Given the description of an element on the screen output the (x, y) to click on. 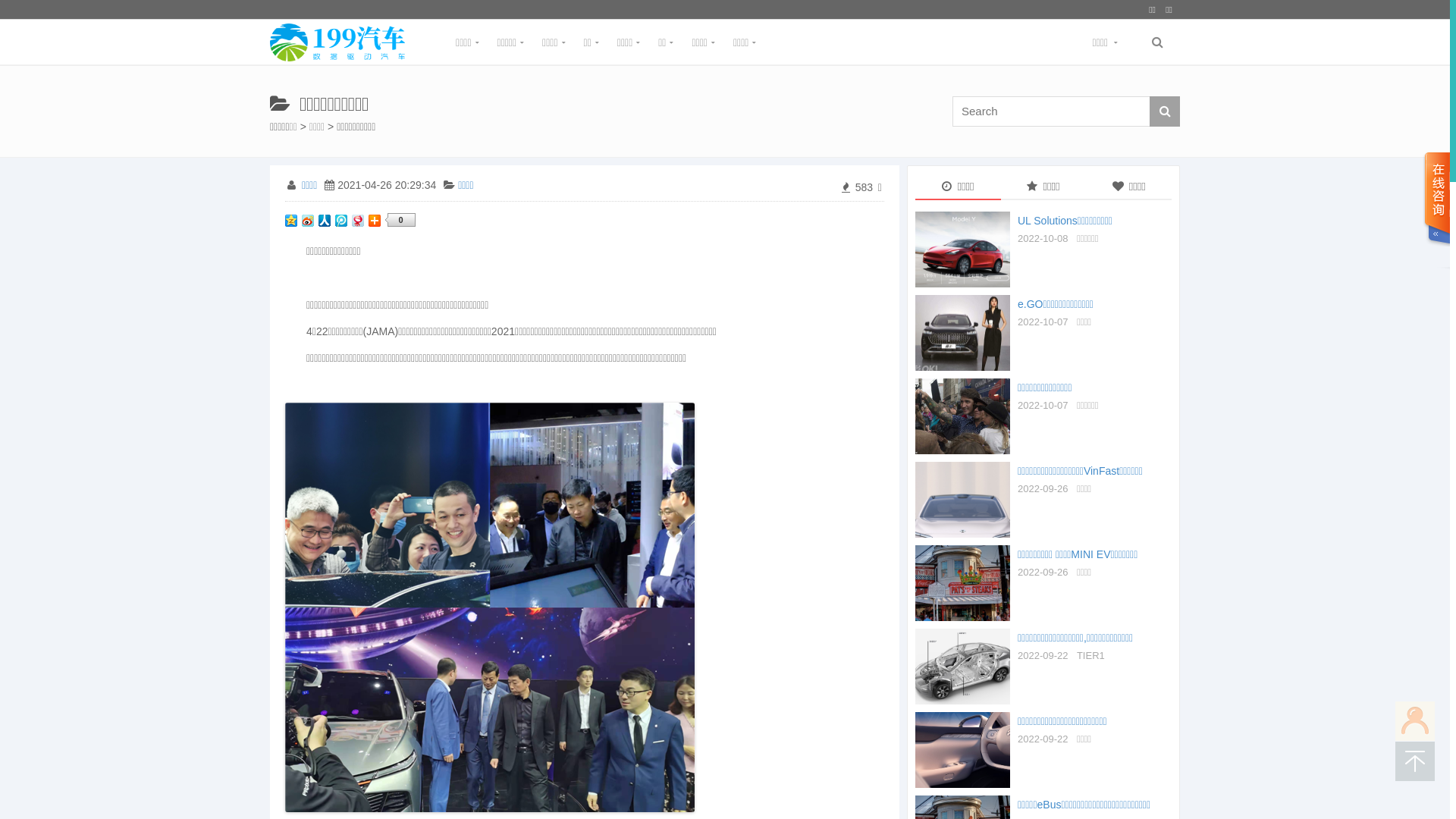
  Element type: text (1435, 210)
TIER1 Element type: text (1090, 655)
